Given the description of an element on the screen output the (x, y) to click on. 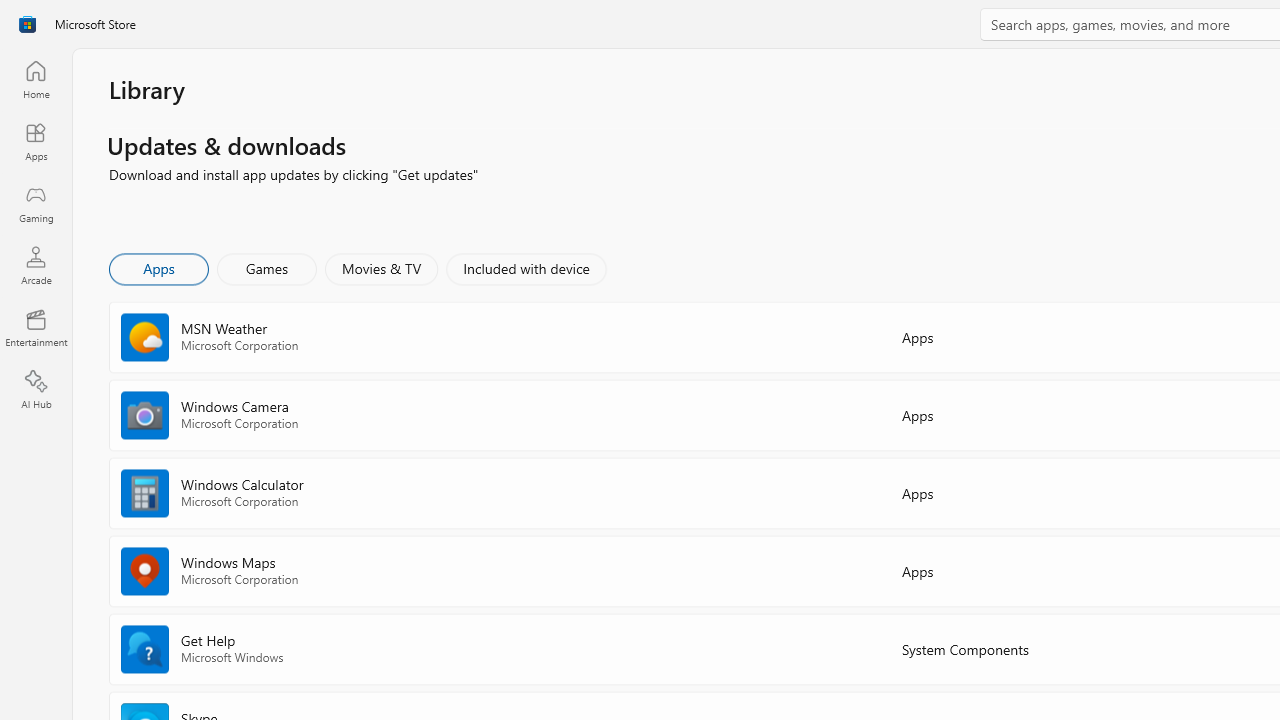
Movies & TV (381, 268)
Games (267, 268)
Included with device (525, 268)
